Given the description of an element on the screen output the (x, y) to click on. 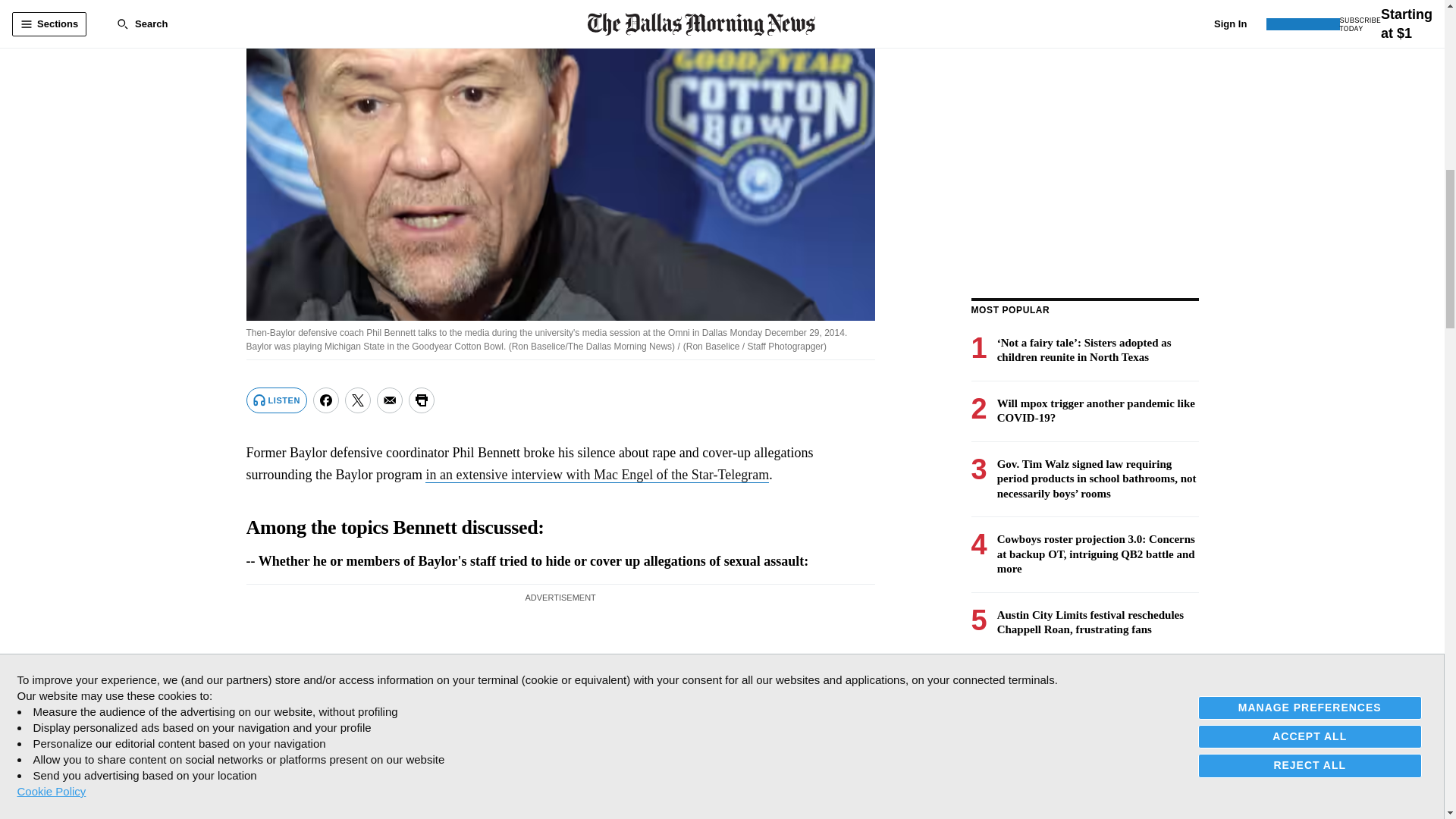
Print (421, 400)
Share on Facebook (326, 400)
Share on Twitter (358, 400)
Share via Email (390, 400)
